Given the description of an element on the screen output the (x, y) to click on. 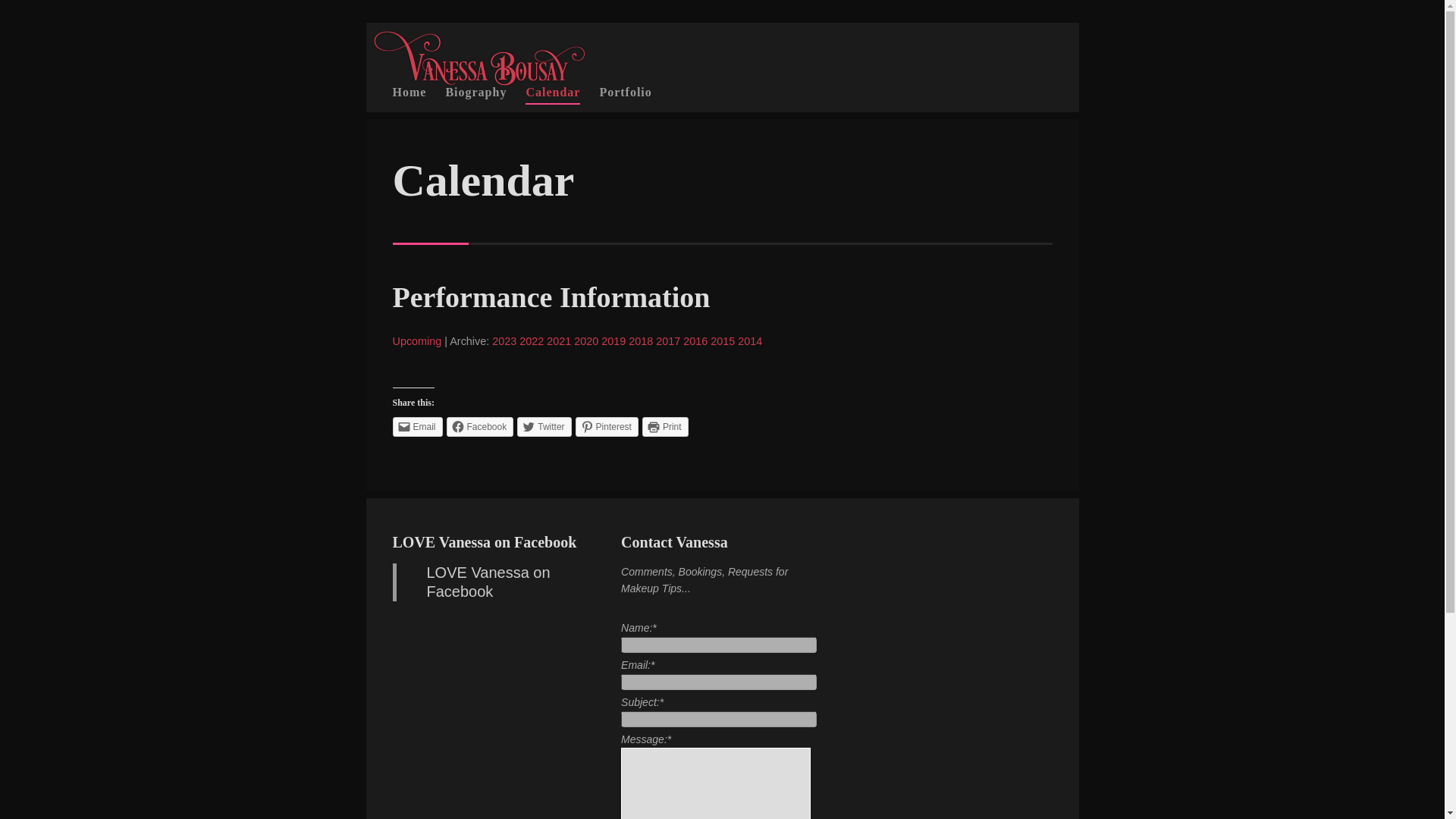
Portfolio (624, 92)
2017 (667, 340)
Twitter (543, 426)
Print (665, 426)
2014 (749, 340)
Click to print (665, 426)
2020 (585, 340)
Facebook (479, 426)
Vanessa Bousay (478, 81)
Click to email this to a friend (417, 426)
Click to share on Pinterest (607, 426)
LOVE Vanessa on Facebook (484, 541)
LOVE Vanessa on Facebook (488, 581)
Biography (475, 92)
2015 (722, 340)
